Given the description of an element on the screen output the (x, y) to click on. 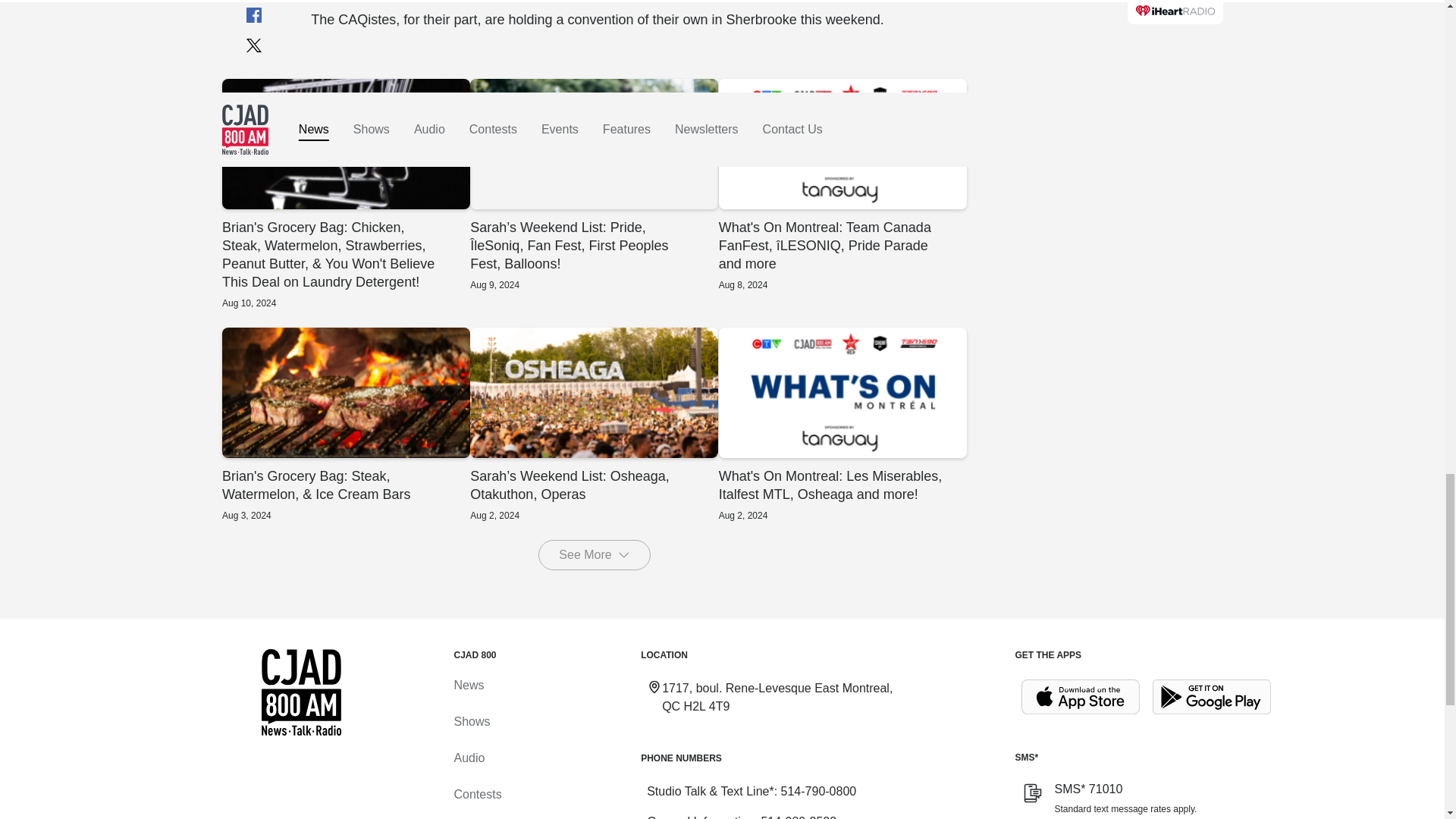
Audio (468, 757)
Download on the App Store (1080, 696)
514-790-0800 (818, 790)
See More (593, 554)
Get it on Google Play (1212, 696)
Shows (470, 721)
514-989-2523 (797, 816)
Contests (476, 793)
